Given the description of an element on the screen output the (x, y) to click on. 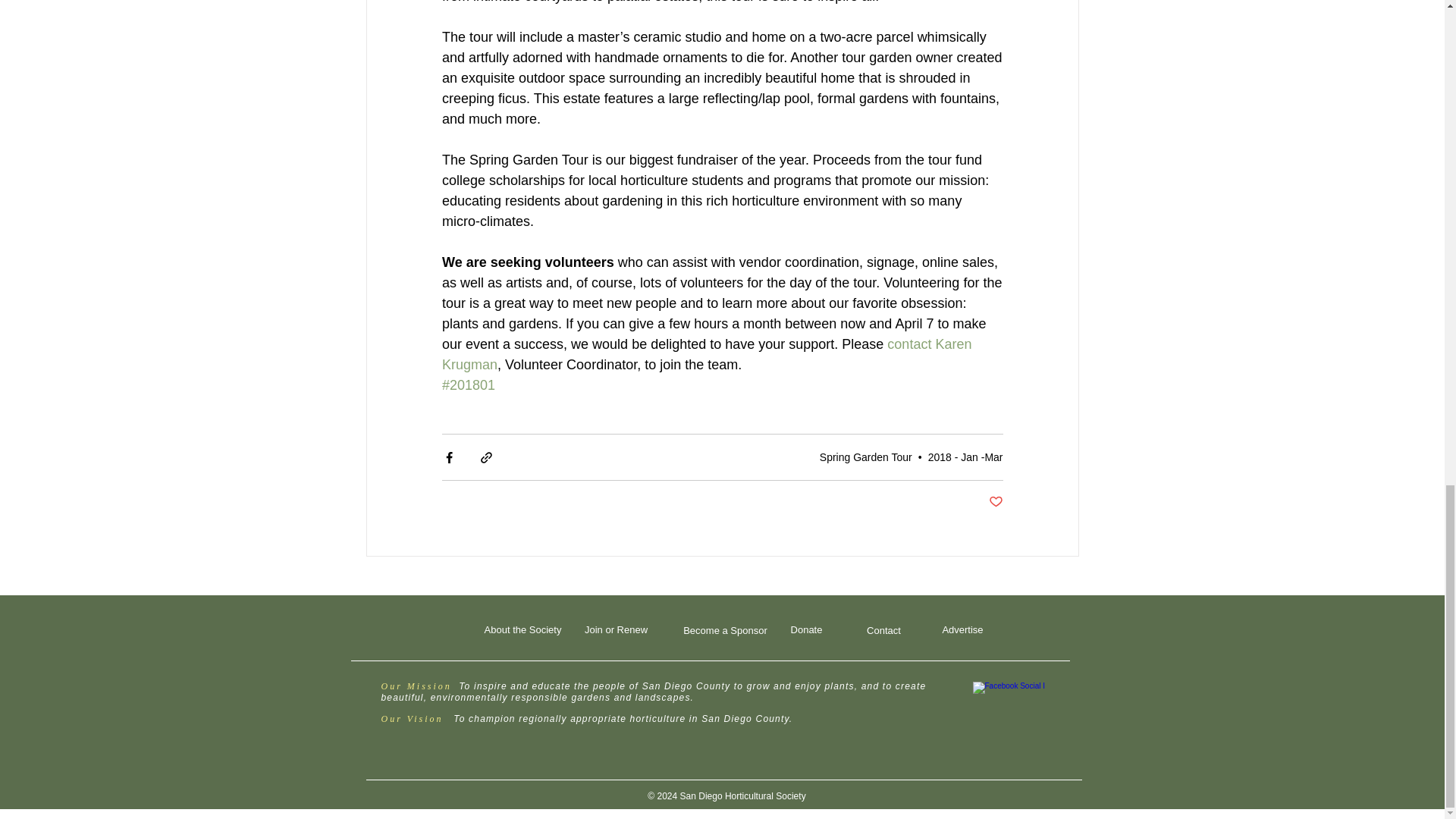
Join or Renew (615, 630)
Contact (882, 630)
2018 - Jan -Mar (965, 457)
Spring Garden Tour (865, 457)
About the Society (522, 630)
Become a Sponsor (724, 630)
contact Karen Krugman (707, 354)
Advertise (961, 630)
Post not marked as liked (995, 502)
Donate (805, 630)
